Given the description of an element on the screen output the (x, y) to click on. 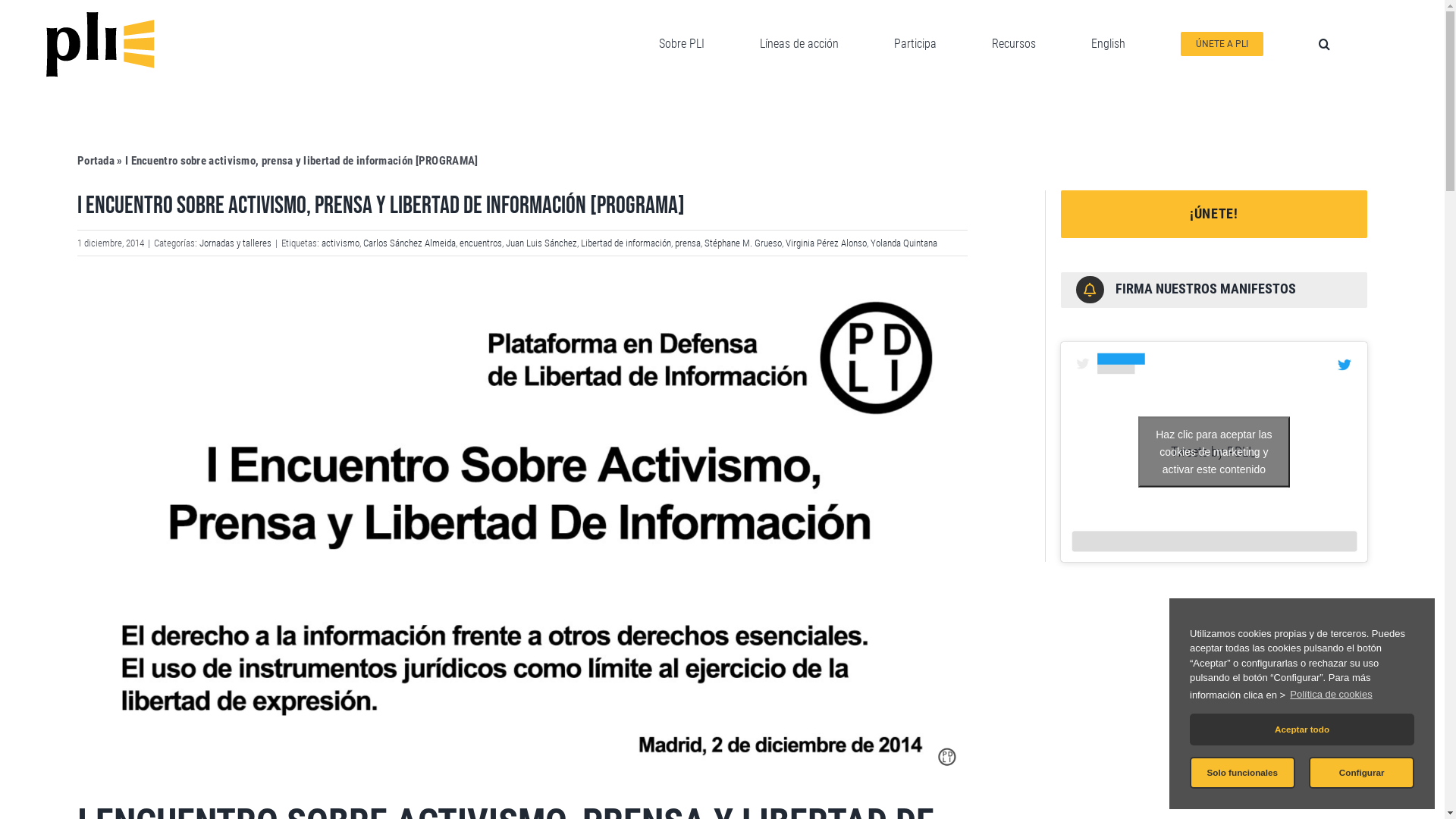
Aceptar todo Element type: text (1301, 729)
Participa Element type: text (914, 43)
activismo Element type: text (340, 242)
Buscar Element type: hover (1324, 43)
encuentros Element type: text (480, 242)
FIRMA NUESTROS MANIFESTOS Element type: text (1205, 288)
Recursos Element type: text (1013, 43)
Portada Element type: text (95, 160)
Sobre PLI Element type: text (681, 43)
prensa Element type: text (687, 242)
Jornadas y talleres Element type: text (235, 242)
Solo funcionales Element type: text (1242, 772)
Configurar Element type: text (1361, 772)
Yolanda Quintana Element type: text (903, 242)
English Element type: text (1108, 43)
